Given the description of an element on the screen output the (x, y) to click on. 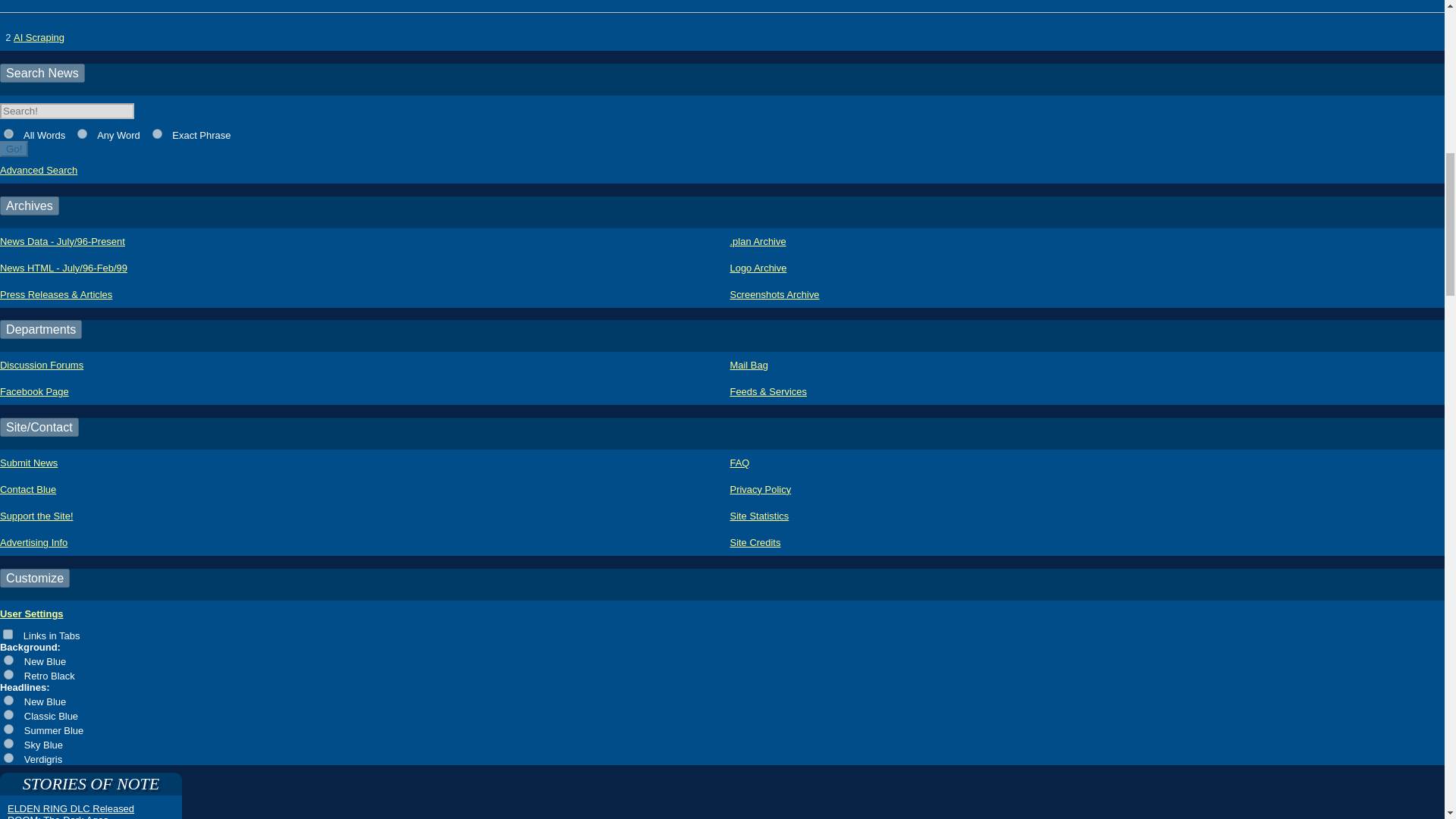
1 (8, 133)
retro (8, 674)
default (8, 700)
summer (8, 728)
on (7, 634)
classic (8, 714)
sky (8, 743)
Go! (13, 148)
2 (82, 133)
verdigris (8, 757)
default (8, 660)
3 (156, 133)
